Given the description of an element on the screen output the (x, y) to click on. 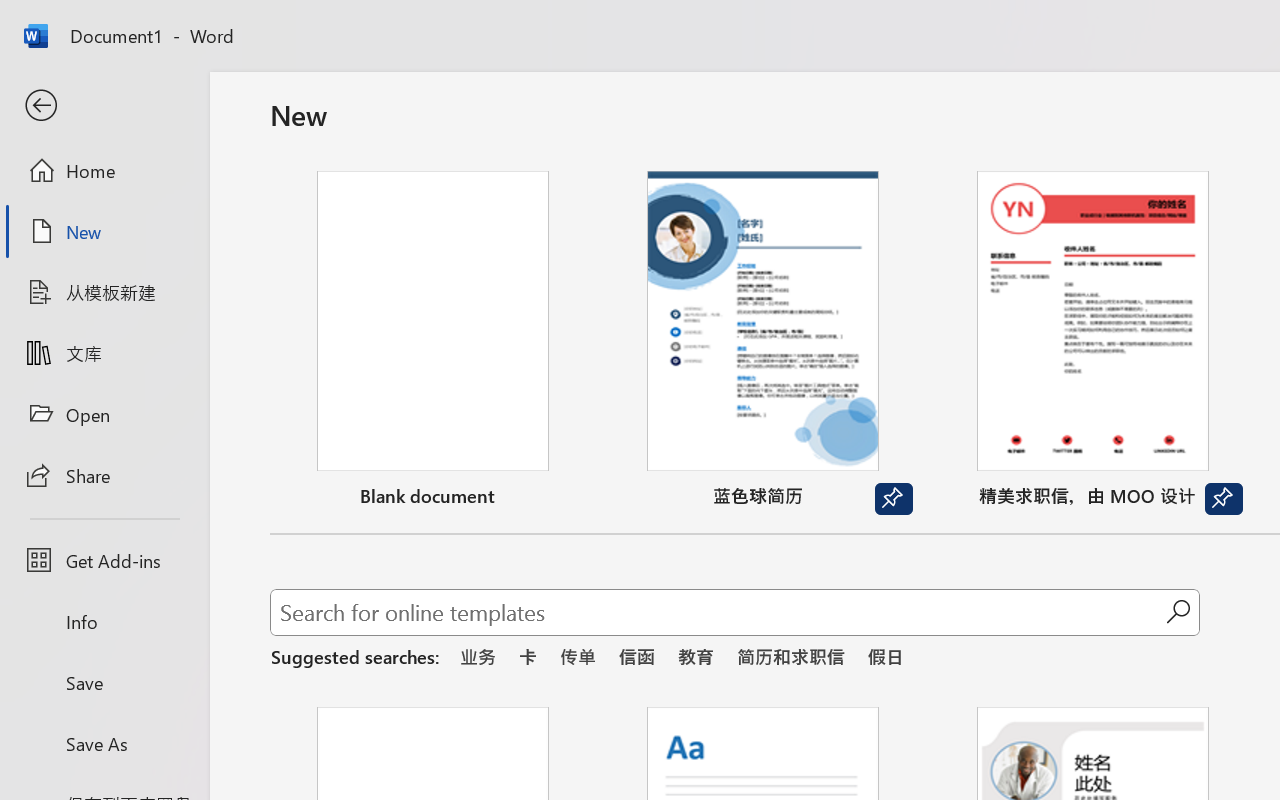
Info (104, 621)
Save As (104, 743)
Blank document (433, 343)
Start searching (1178, 612)
Get Add-ins (104, 560)
